Given the description of an element on the screen output the (x, y) to click on. 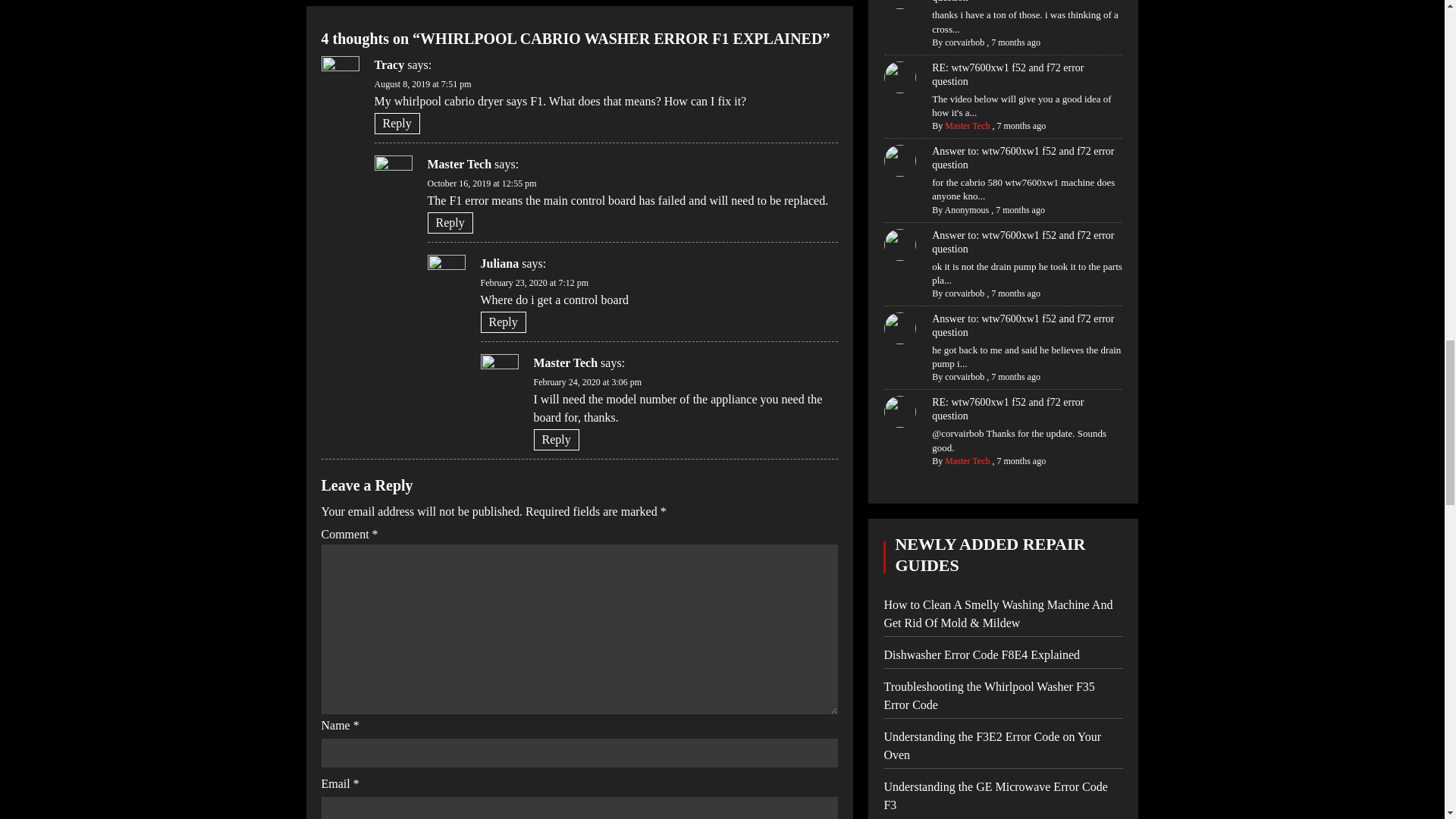
corvairbob (964, 293)
Master Tech (967, 460)
corvairbob (964, 41)
corvairbob (964, 376)
Master Tech (967, 125)
Anonymous (967, 209)
